Given the description of an element on the screen output the (x, y) to click on. 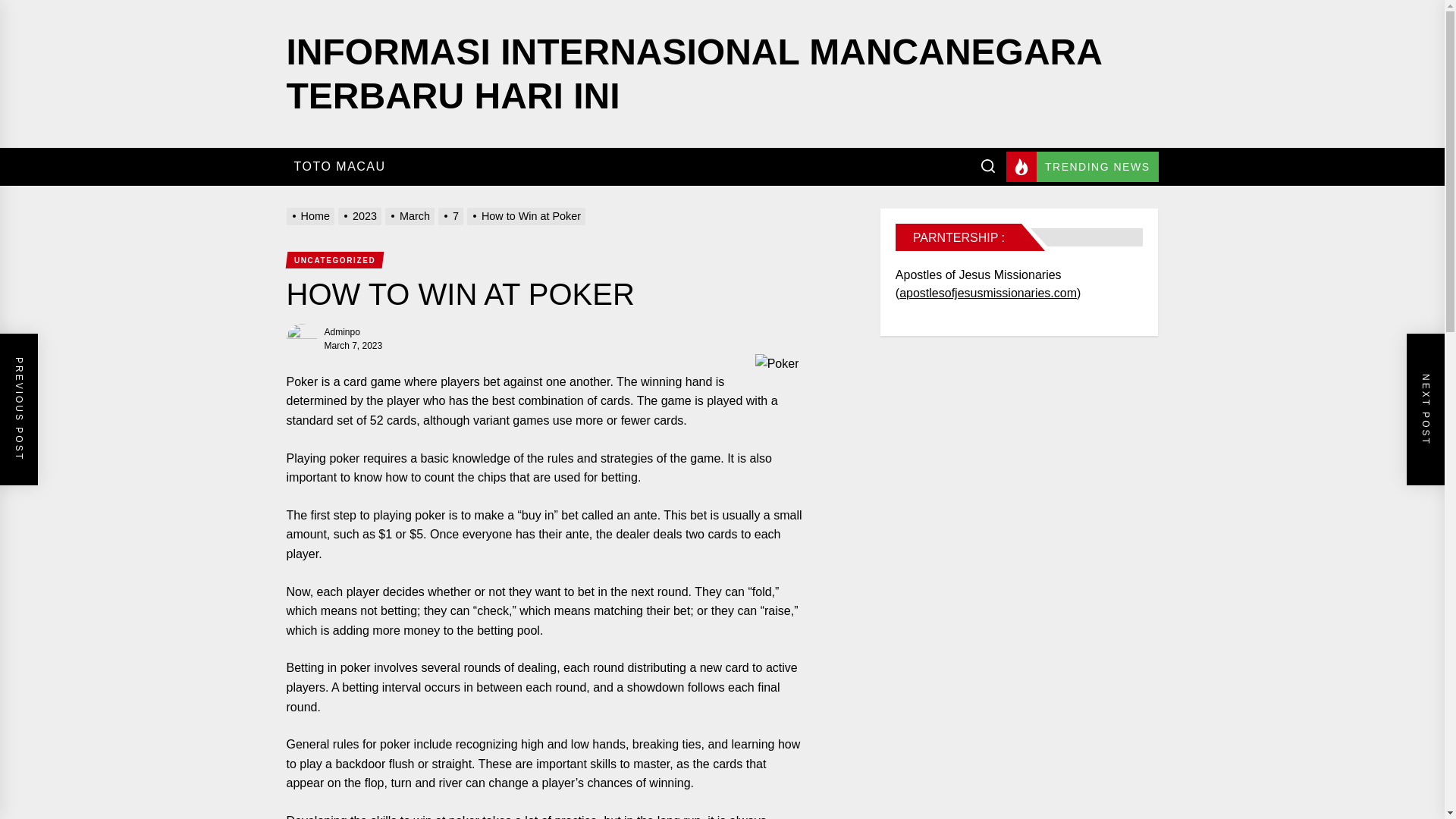
7 (452, 215)
March (411, 215)
UNCATEGORIZED (333, 259)
2023 (361, 215)
INFORMASI INTERNASIONAL MANCANEGARA TERBARU HARI INI (694, 73)
Home (311, 215)
TRENDING NEWS (1082, 166)
March 7, 2023 (353, 345)
Adminpo (341, 331)
How to Win at Poker (528, 215)
TOTO MACAU (339, 166)
